Given the description of an element on the screen output the (x, y) to click on. 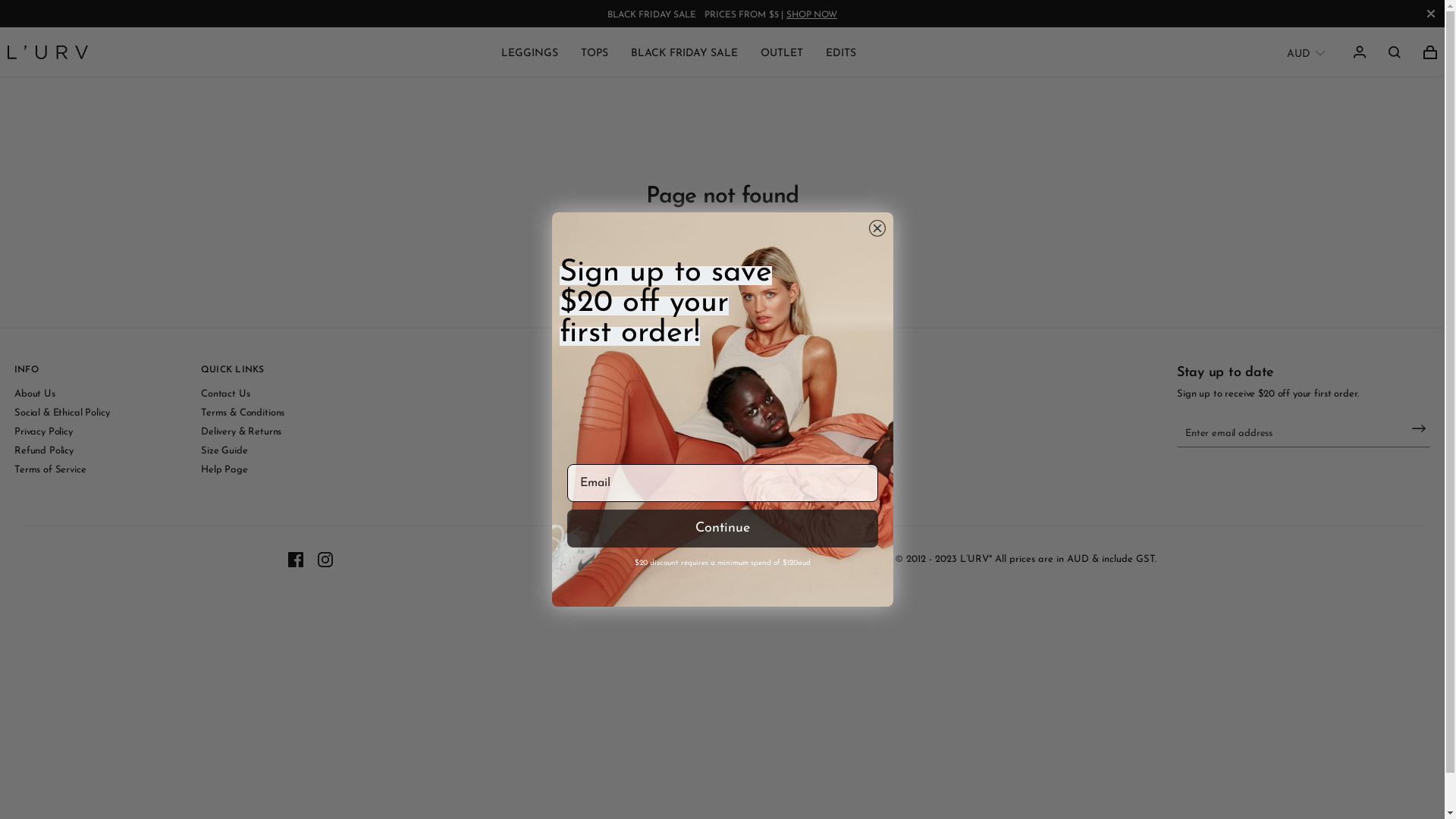
Submit Element type: text (170, 18)
About Us Element type: text (34, 393)
BLACK FRIDAY SALE Element type: text (683, 53)
Size Guide Element type: text (223, 450)
value Element type: text (1394, 51)
Close dialog 1 Element type: text (877, 227)
LEGGINGS Element type: text (529, 53)
Contact Us Element type: text (225, 393)
Terms of Service Element type: text (50, 469)
Privacy Policy Element type: text (43, 431)
OUTLET Element type: text (781, 53)
SHOP NOW Element type: text (811, 14)
Refund Policy Element type: text (43, 450)
Help Page Element type: text (223, 469)
Delivery & Returns Element type: text (240, 431)
EDITS Element type: text (840, 53)
Social & Ethical Policy Element type: text (61, 412)
Continue Element type: text (722, 528)
Terms & Conditions Element type: text (242, 412)
TOPS Element type: text (594, 53)
